Given the description of an element on the screen output the (x, y) to click on. 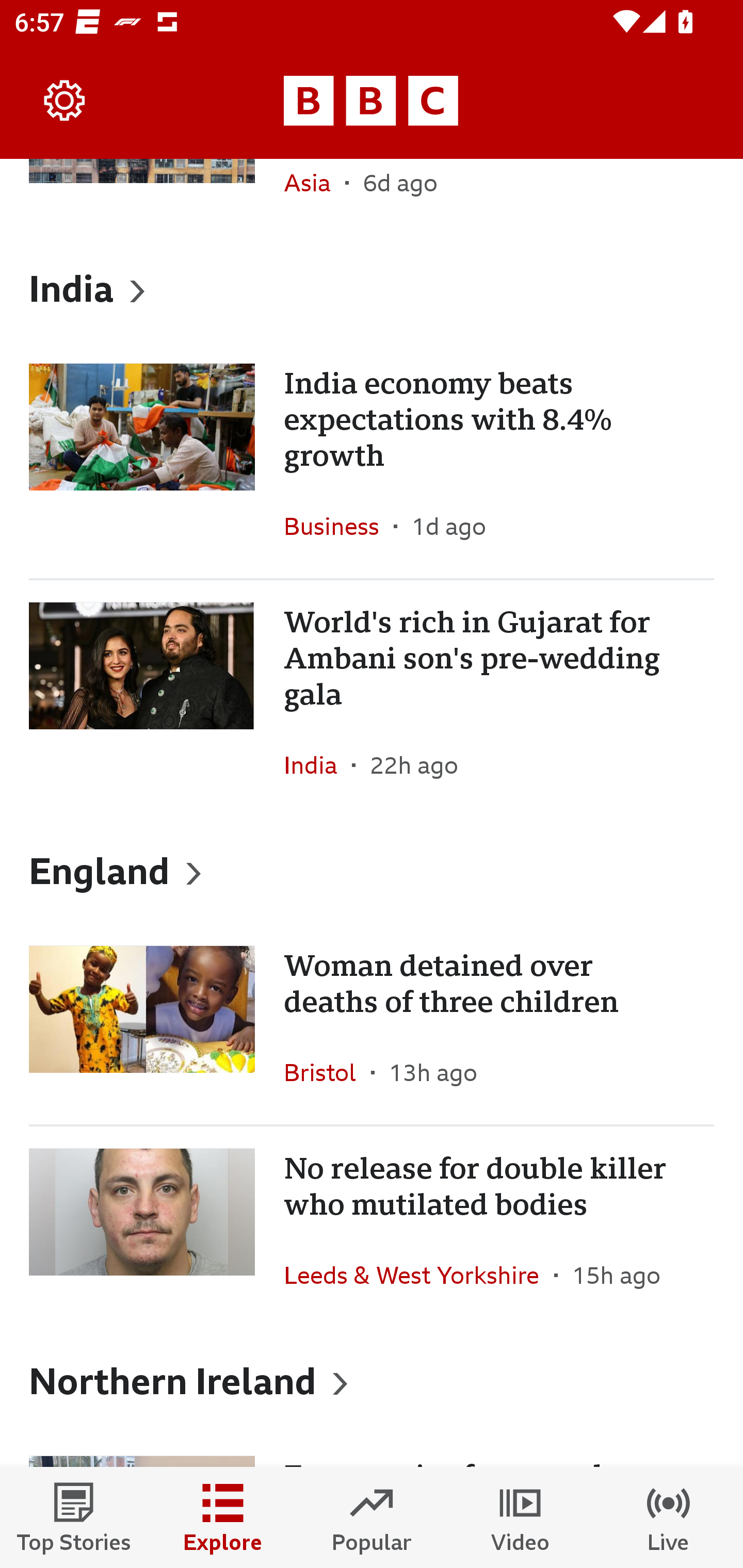
Settings (64, 100)
Asia In the section Asia (314, 196)
India, Heading India    (371, 288)
Business In the section Business (338, 525)
India In the section India (317, 764)
England, Heading England    (371, 869)
Bristol In the section Bristol (326, 1072)
Northern Ireland, Heading Northern Ireland    (371, 1379)
Top Stories (74, 1517)
Popular (371, 1517)
Video (519, 1517)
Live (668, 1517)
